Given the description of an element on the screen output the (x, y) to click on. 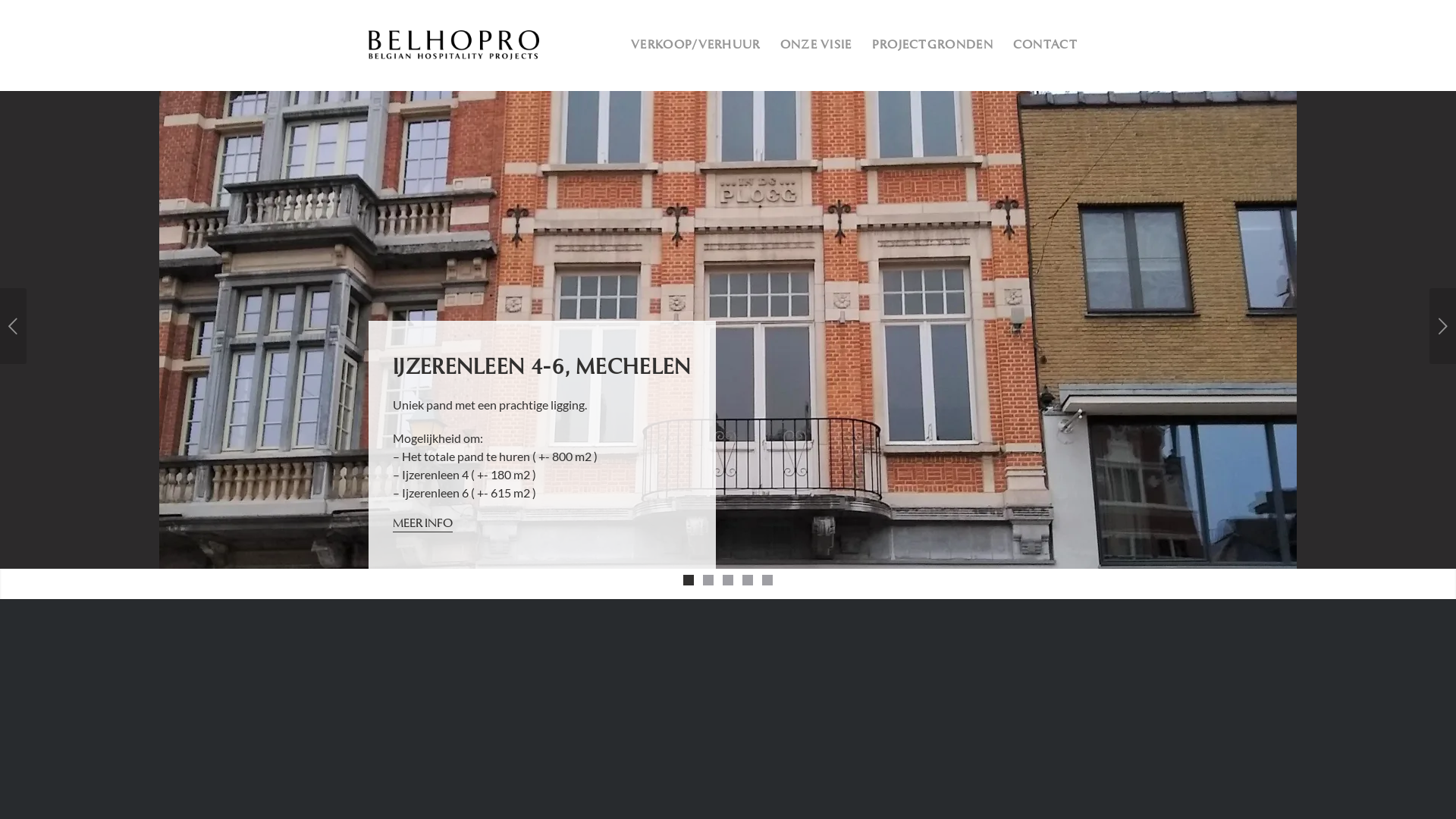
CONTACT Element type: text (1045, 45)
1 Element type: text (688, 579)
PROJECTGRONDEN Element type: text (932, 45)
ONZE VISIE Element type: text (816, 45)
2 Element type: text (707, 579)
Previous Element type: text (13, 326)
VERKOOP/VERHUUR Element type: text (695, 45)
5 Element type: text (767, 579)
4 Element type: text (747, 579)
MEER INFO Element type: text (422, 524)
3 Element type: text (727, 579)
